Given the description of an element on the screen output the (x, y) to click on. 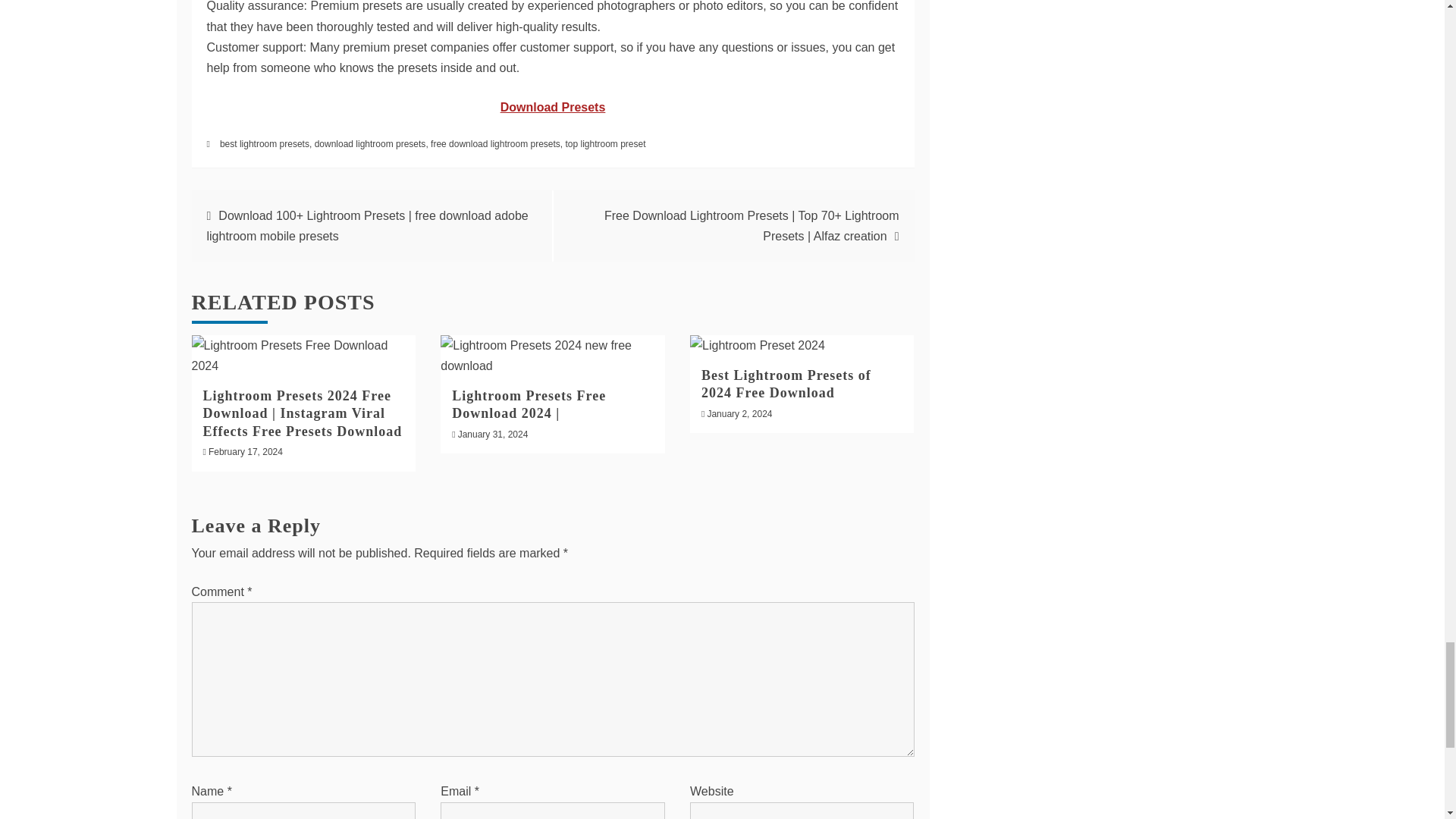
free download lightroom presets (495, 143)
best lightroom presets (263, 143)
download lightroom presets (370, 143)
January 2, 2024 (738, 413)
January 31, 2024 (493, 434)
February 17, 2024 (245, 451)
Download Presets (552, 106)
top lightroom preset (604, 143)
Best Lightroom Presets of 2024 Free Download (785, 383)
